Given the description of an element on the screen output the (x, y) to click on. 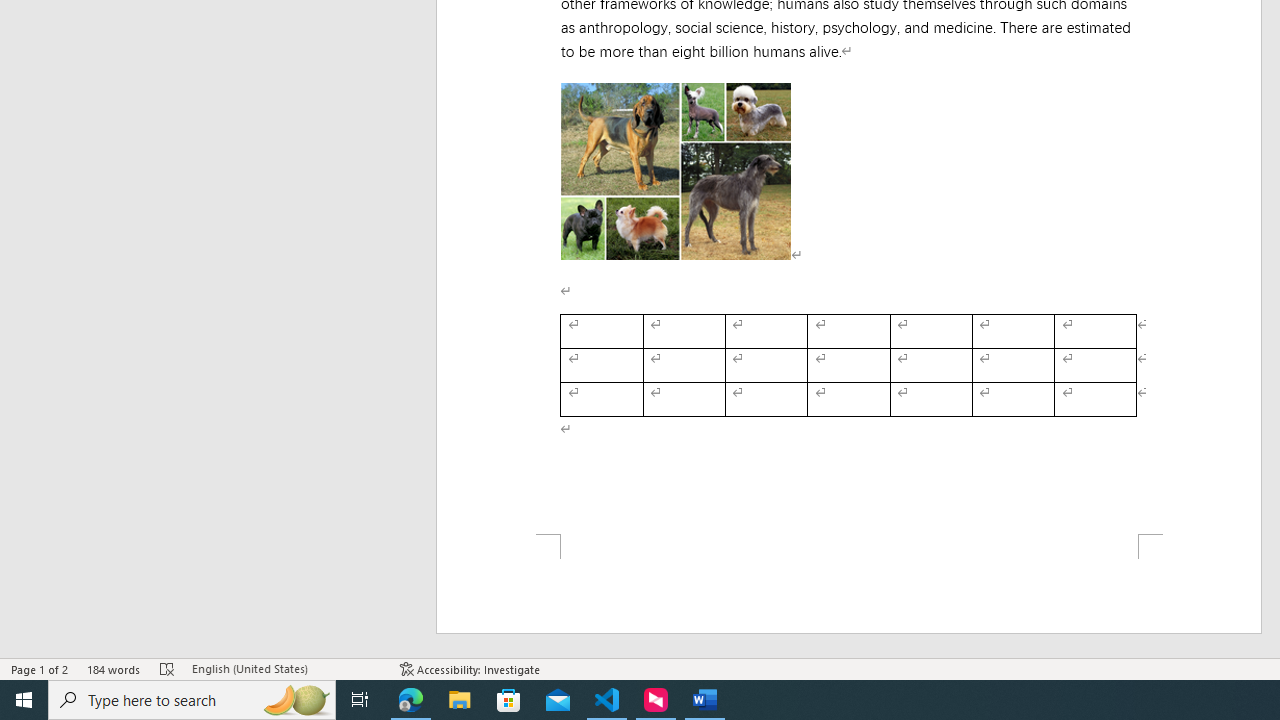
Search highlights icon opens search home window (295, 699)
Morphological variation in six dogs (675, 170)
Type here to search (191, 699)
